Given the description of an element on the screen output the (x, y) to click on. 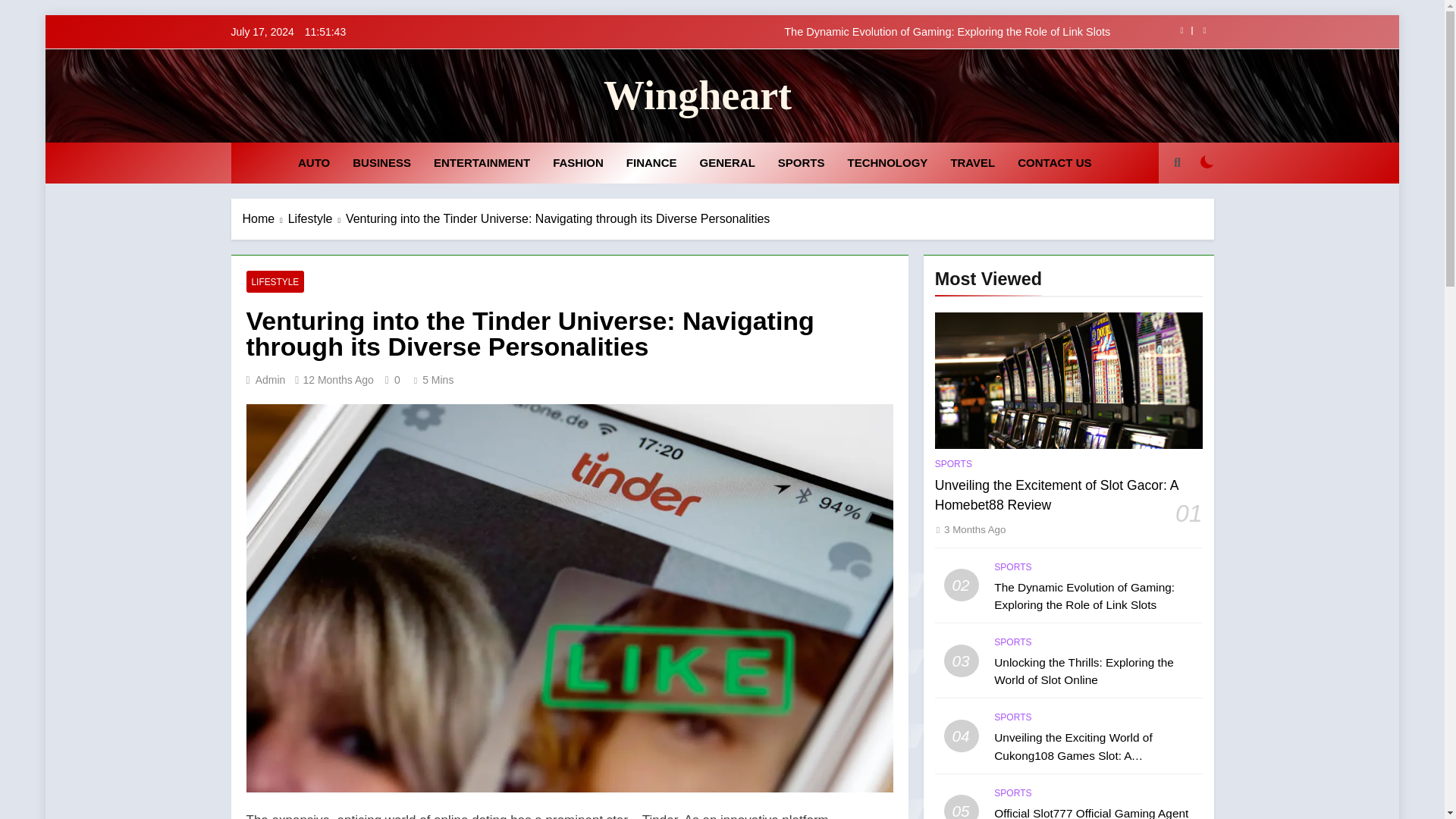
on (1206, 161)
Lifestyle (317, 218)
AUTO (313, 162)
TECHNOLOGY (887, 162)
BUSINESS (381, 162)
FASHION (577, 162)
FINANCE (651, 162)
SPORTS (801, 162)
GENERAL (727, 162)
CONTACT US (1054, 162)
Wingheart (698, 94)
ENTERTAINMENT (481, 162)
